Given the description of an element on the screen output the (x, y) to click on. 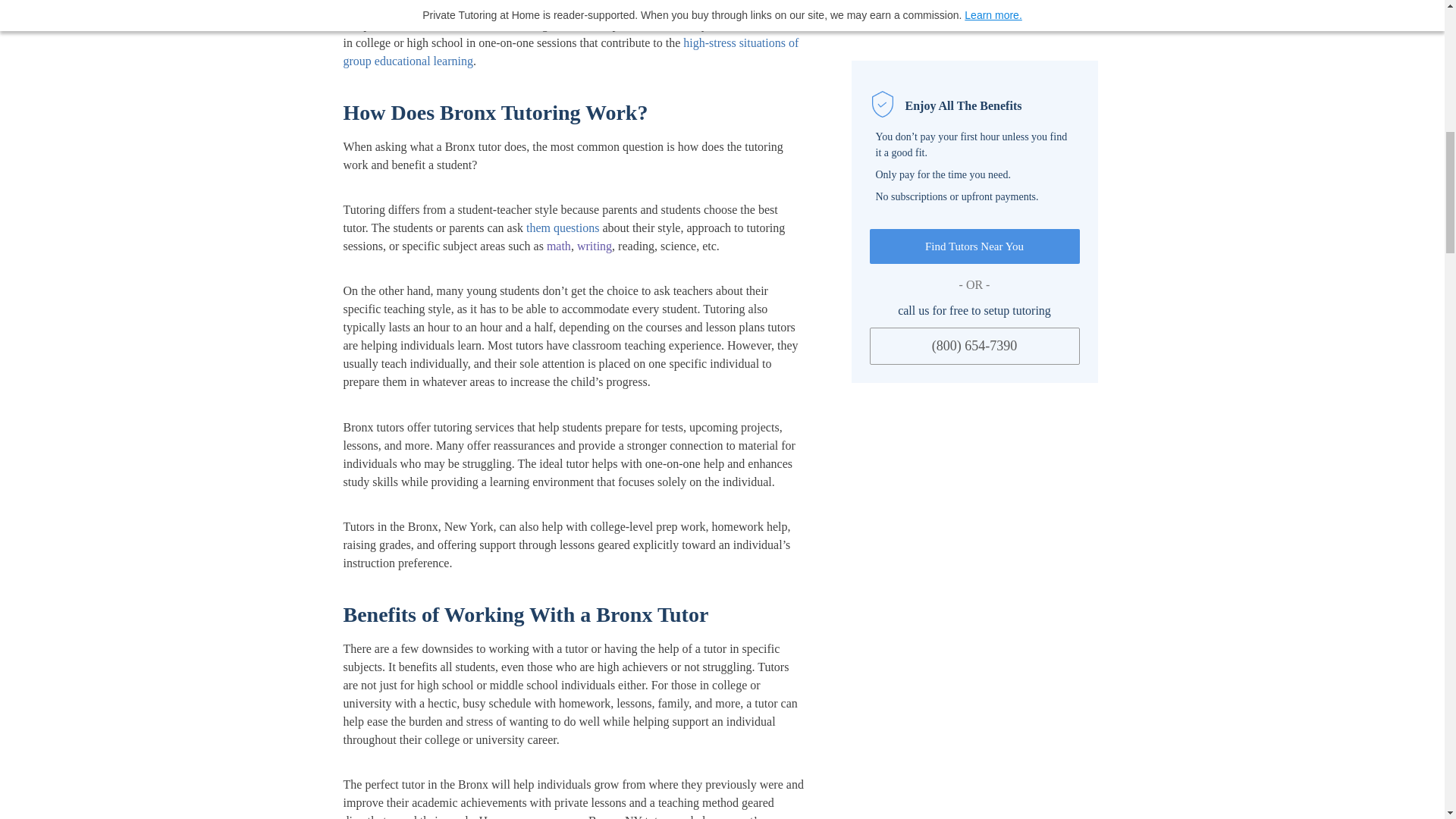
writing (593, 245)
them questions (561, 227)
math (558, 245)
high-stress situations of group educational learning (569, 51)
